Given the description of an element on the screen output the (x, y) to click on. 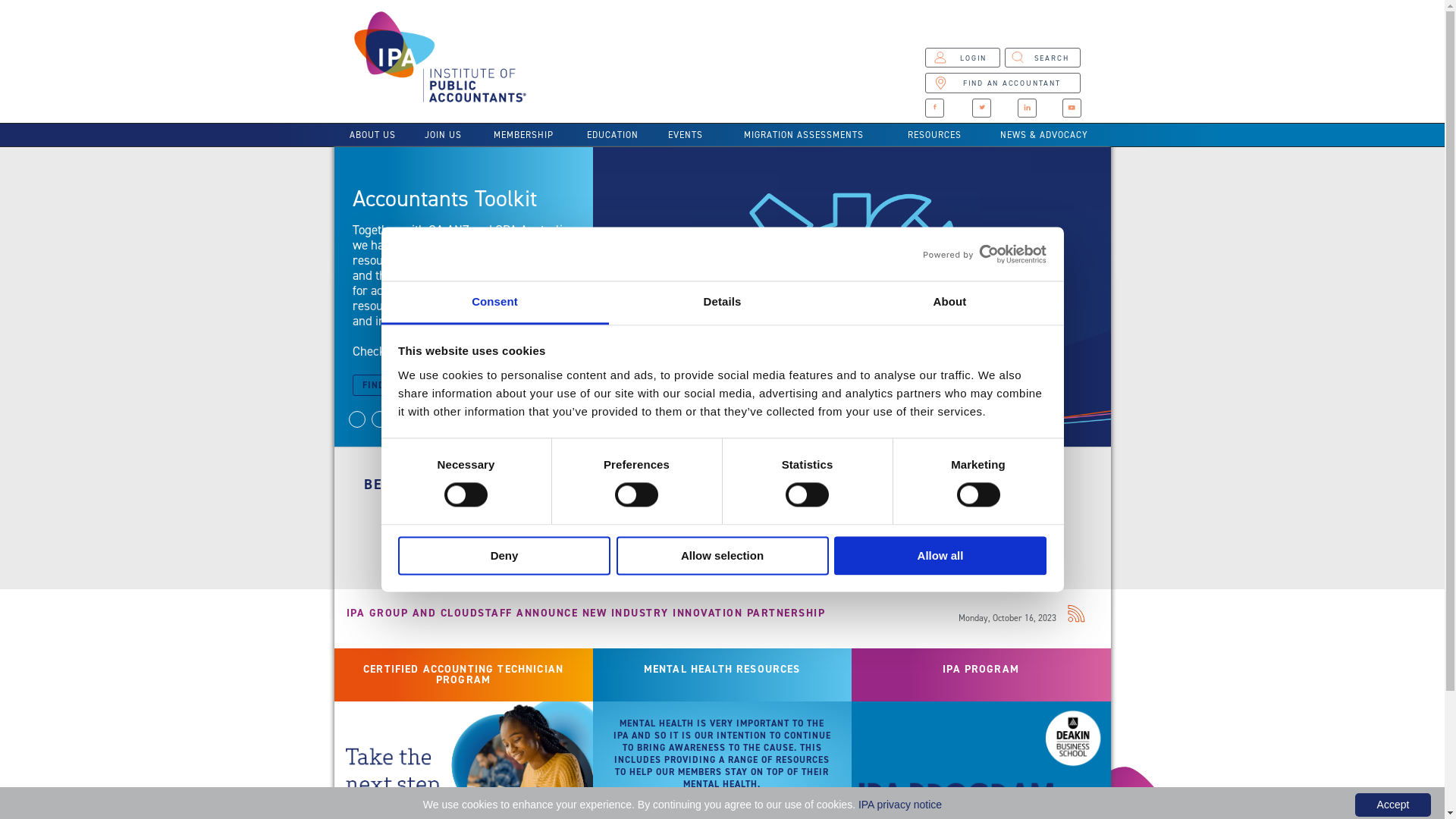
ICON : USER COPYCREATED WITH SKETCH.
LOGIN Element type: text (962, 57)
MEMBERSHIP Element type: text (522, 134)
Consent Element type: text (494, 302)
NEWS & ADVOCACY Element type: text (1044, 134)
Details Element type: text (721, 302)
LINKDIN Element type: text (1026, 107)
Allow selection Element type: text (721, 555)
YOUTUBE CREATED WITH SKETCH. Element type: text (1071, 107)
EVENTS Element type: text (684, 134)
MIGRATION ASSESSMENTS Element type: text (803, 134)
Deny Element type: text (504, 555)
ABOUT US Element type: text (371, 134)
ICON : SEARCH CREATED WITH SKETCH.
SEARCH Element type: text (1042, 57)
About Element type: text (949, 302)
SEARCH
NOW Element type: text (625, 534)
EDUCATION Element type: text (613, 134)
FIND OUT MORE Element type: text (404, 384)
APPLY
NOW Element type: text (819, 534)
APPLY NOW Element type: text (431, 534)
ICON CREATED WITH SKETCH. Element type: text (981, 107)
FACEBOOK ICON CREATED WITH SKETCH. Element type: text (934, 107)
JOIN US Element type: text (443, 134)
APPLY
NOW Element type: text (1013, 534)
Allow all Element type: text (940, 555)
RESOURCES Element type: text (934, 134)
IPA privacy notice Element type: text (899, 804)
